Given the description of an element on the screen output the (x, y) to click on. 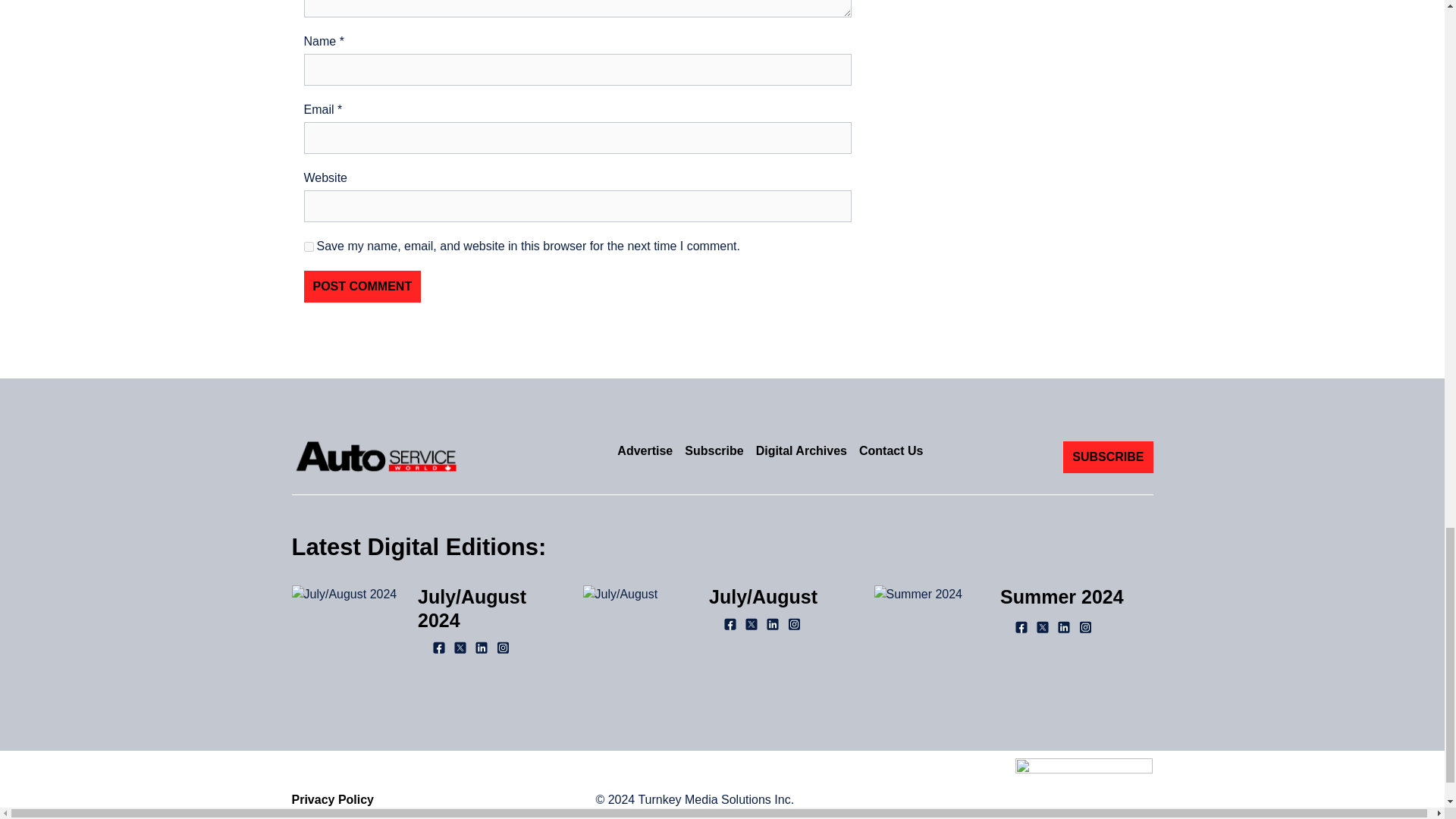
Post Comment (361, 286)
Post Comment (361, 286)
yes (307, 246)
